Given the description of an element on the screen output the (x, y) to click on. 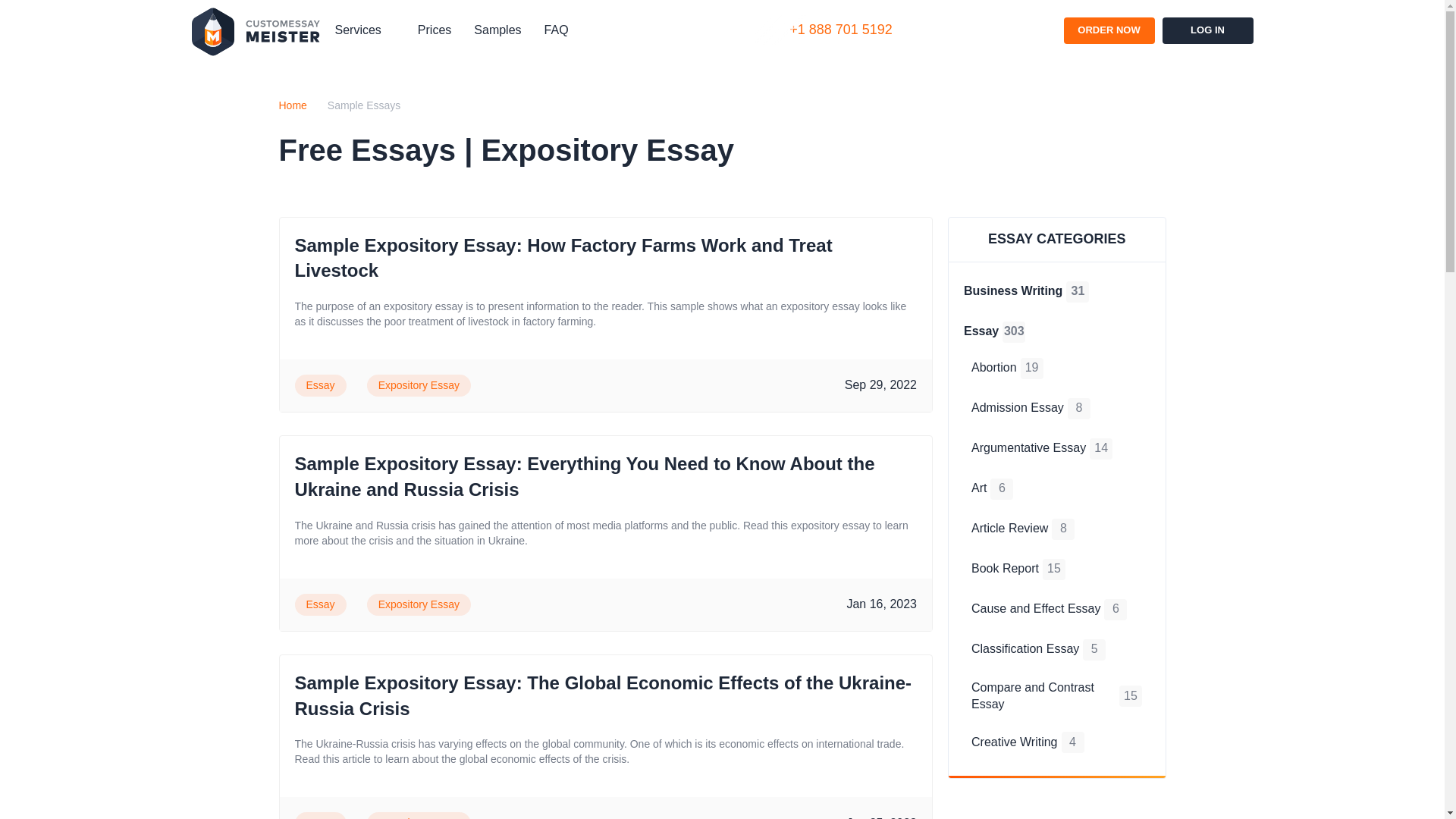
Prices (434, 30)
FAQ (556, 30)
Samples (497, 30)
LOG IN (1206, 29)
Home (293, 105)
ORDER NOW (1108, 29)
